Given the description of an element on the screen output the (x, y) to click on. 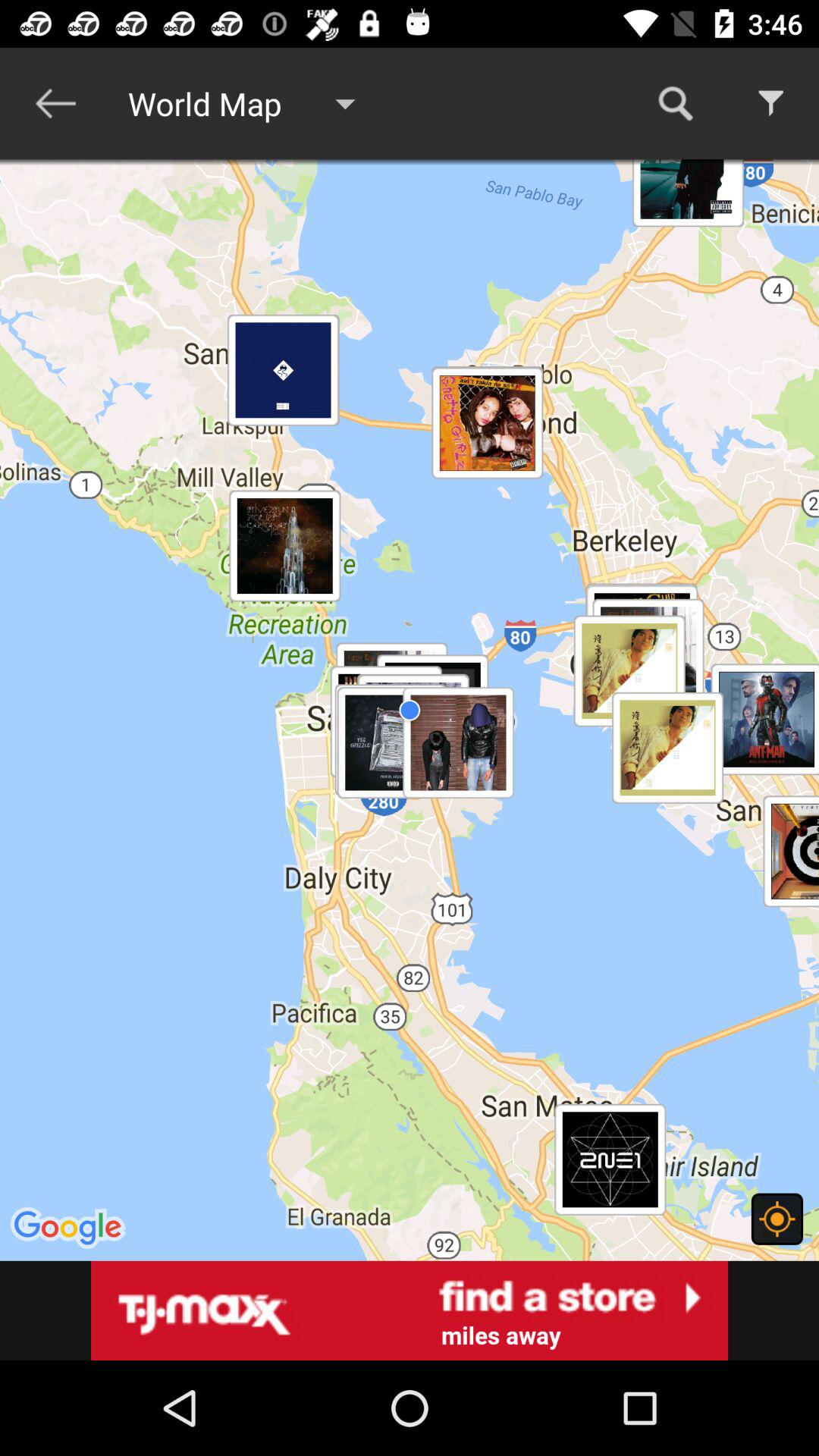
advertisement store (409, 1310)
